Given the description of an element on the screen output the (x, y) to click on. 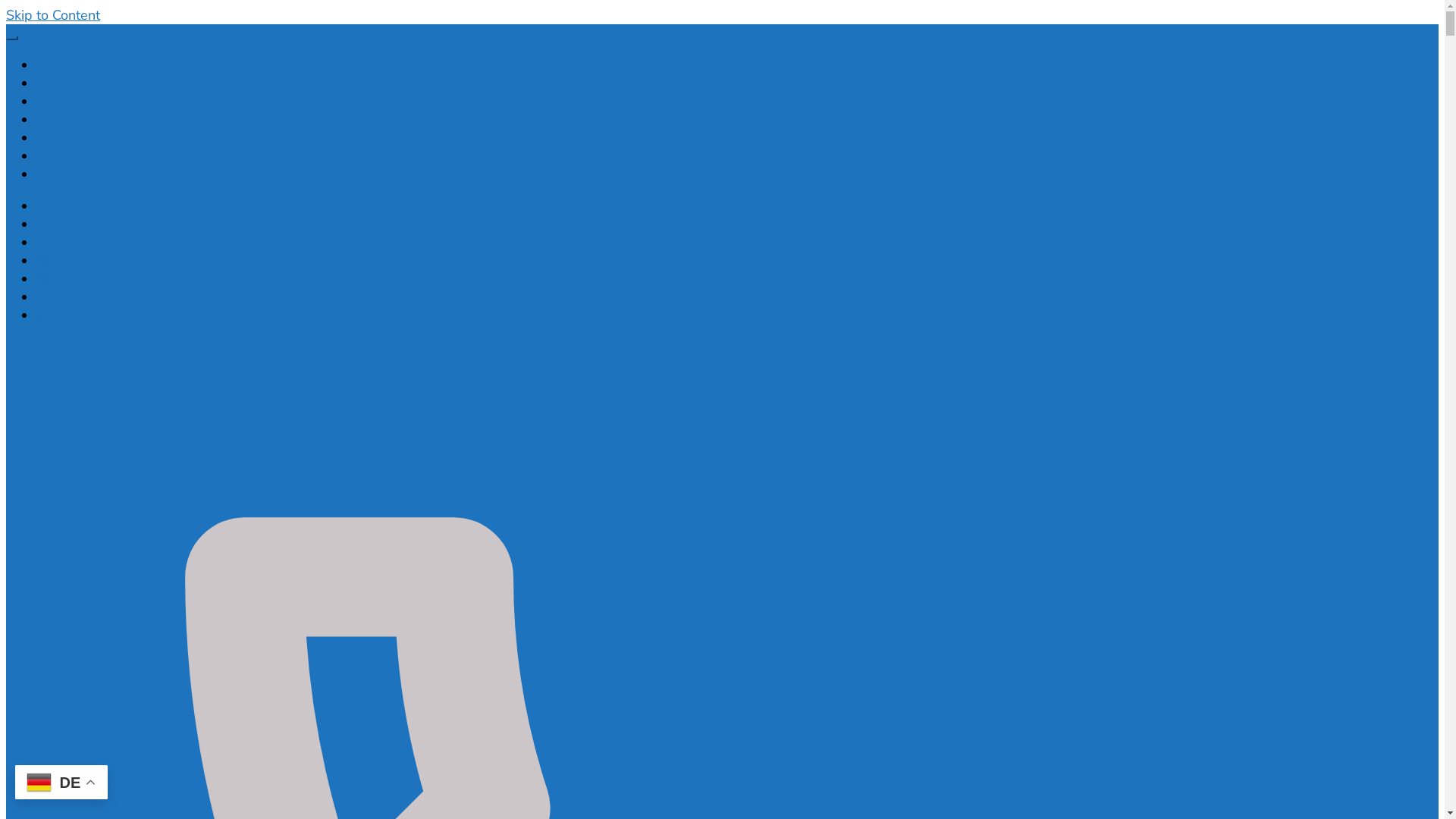
Massagepraxis Element type: text (82, 119)
Termin Buchen Element type: text (81, 83)
Notfalltermin Element type: text (76, 101)
Triathlon Coach Element type: text (83, 174)
Skip to Content Element type: text (53, 15)
Gruppentraining Element type: text (86, 156)
Home Element type: text (54, 65)
